Given the description of an element on the screen output the (x, y) to click on. 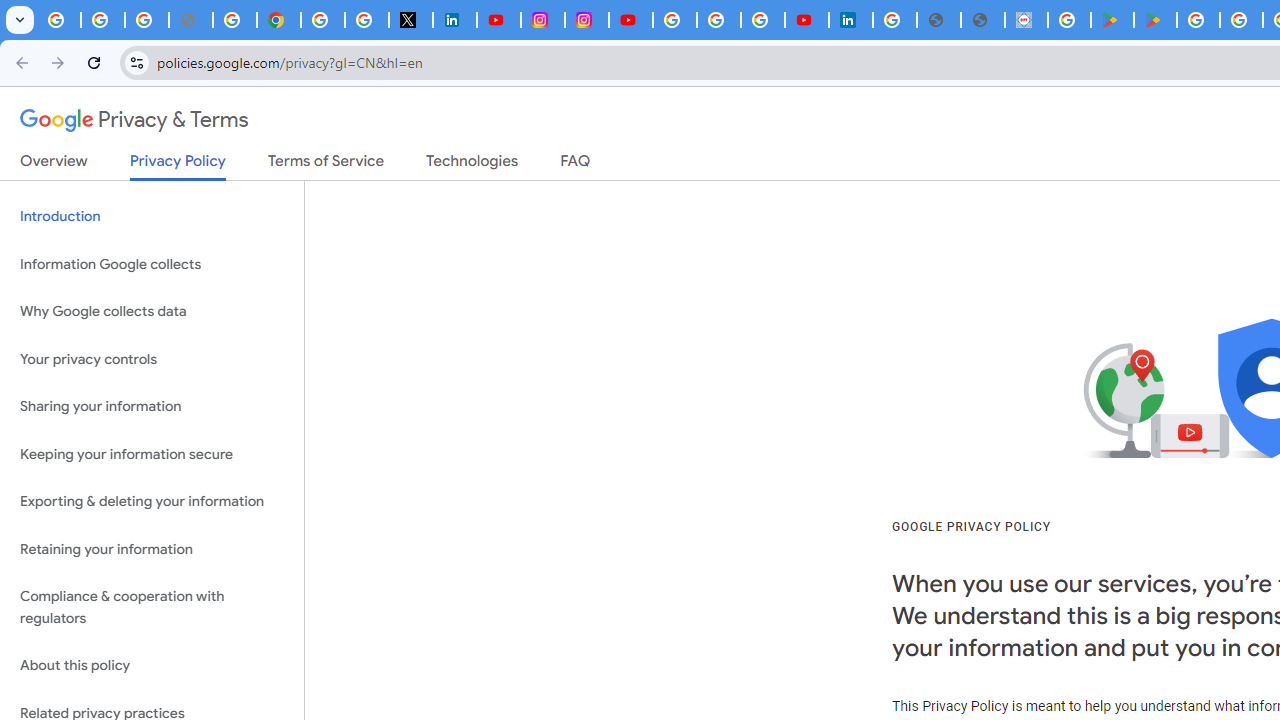
Sharing your information (152, 407)
Back (19, 62)
Exporting & deleting your information (152, 502)
Privacy & Terms (134, 120)
Sign in - Google Accounts (322, 20)
LinkedIn Privacy Policy (454, 20)
View site information (136, 62)
Compliance & cooperation with regulators (152, 607)
Privacy Policy (177, 166)
